Given the description of an element on the screen output the (x, y) to click on. 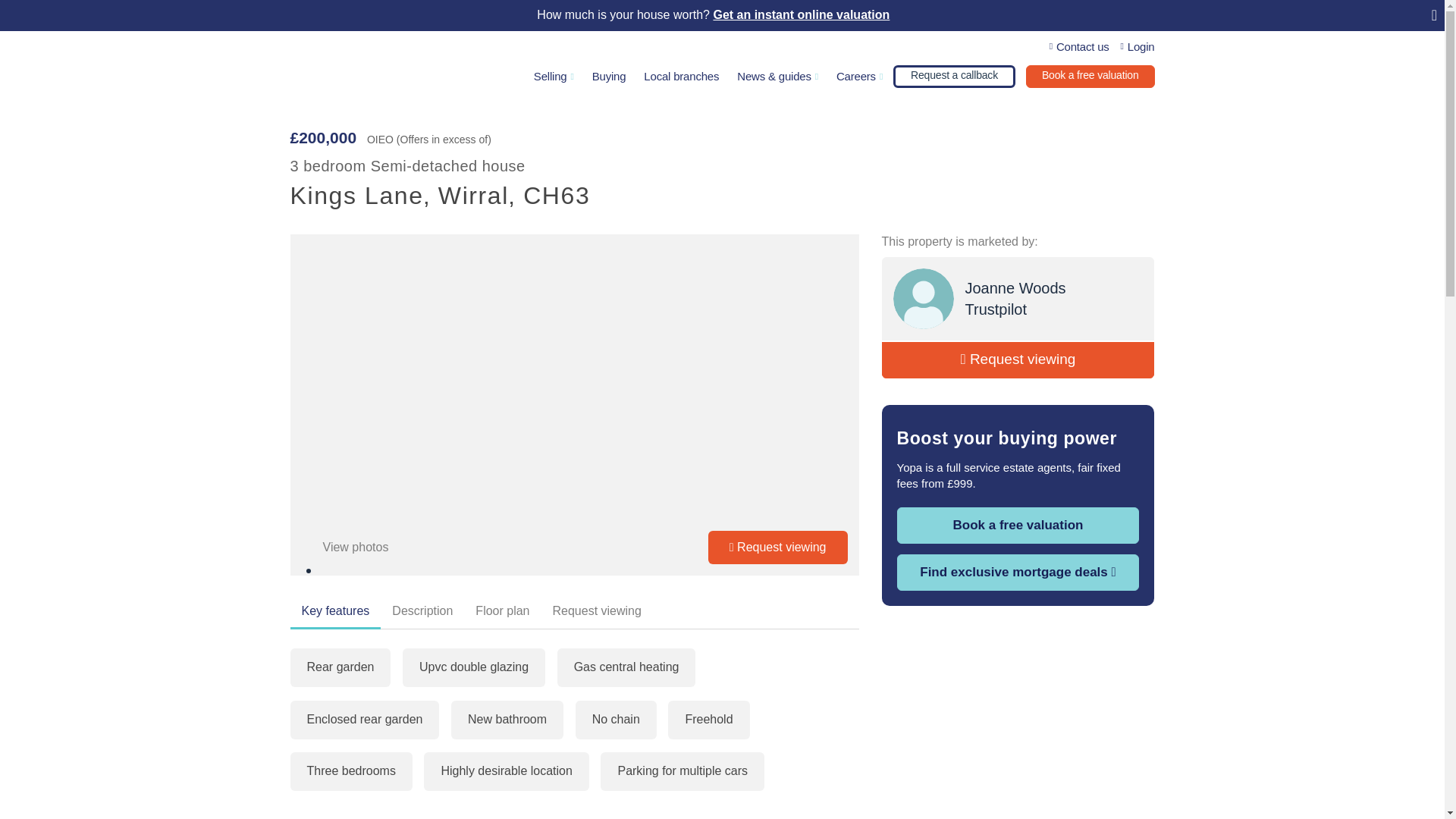
Book a free valuation (1090, 76)
Buying (609, 78)
Parking for multiple cars (681, 771)
Freehold (708, 720)
Upvc double glazing (473, 667)
No chain (615, 720)
Highly desirable location (505, 771)
Three bedrooms (350, 771)
Request a callback (953, 76)
Contact us (1079, 47)
